Given the description of an element on the screen output the (x, y) to click on. 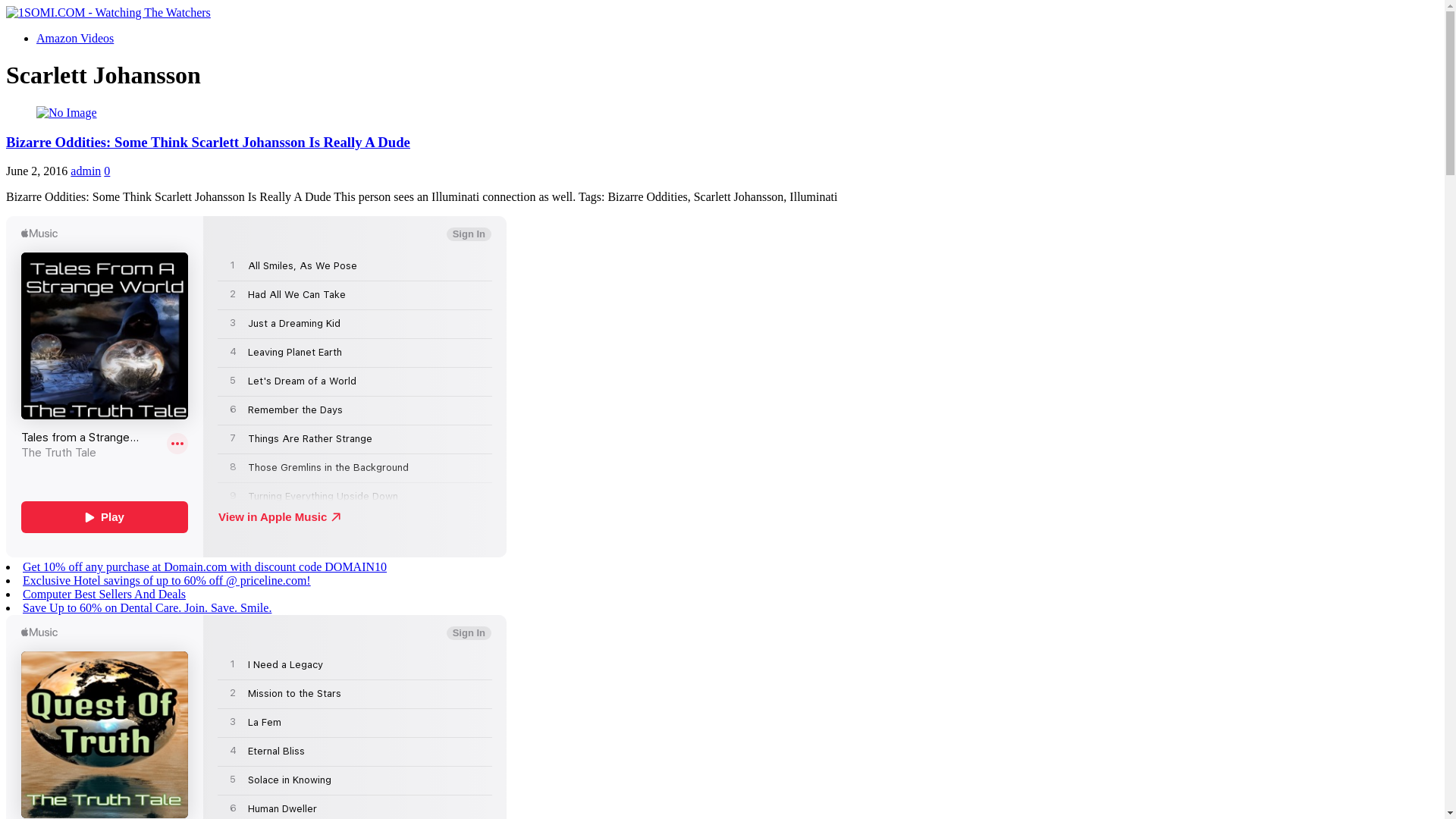
0 Element type: text (106, 170)
Save Up to 60% on Dental Care. Join. Save. Smile. Element type: text (146, 607)
Computer Best Sellers And Deals Element type: text (103, 593)
Amazon Videos Element type: text (74, 37)
1SOMI.COM - Watching The Watchers Element type: hover (108, 12)
admin Element type: text (85, 170)
Exclusive Hotel savings of up to 60% off @ priceline.com! Element type: text (166, 580)
